Given the description of an element on the screen output the (x, y) to click on. 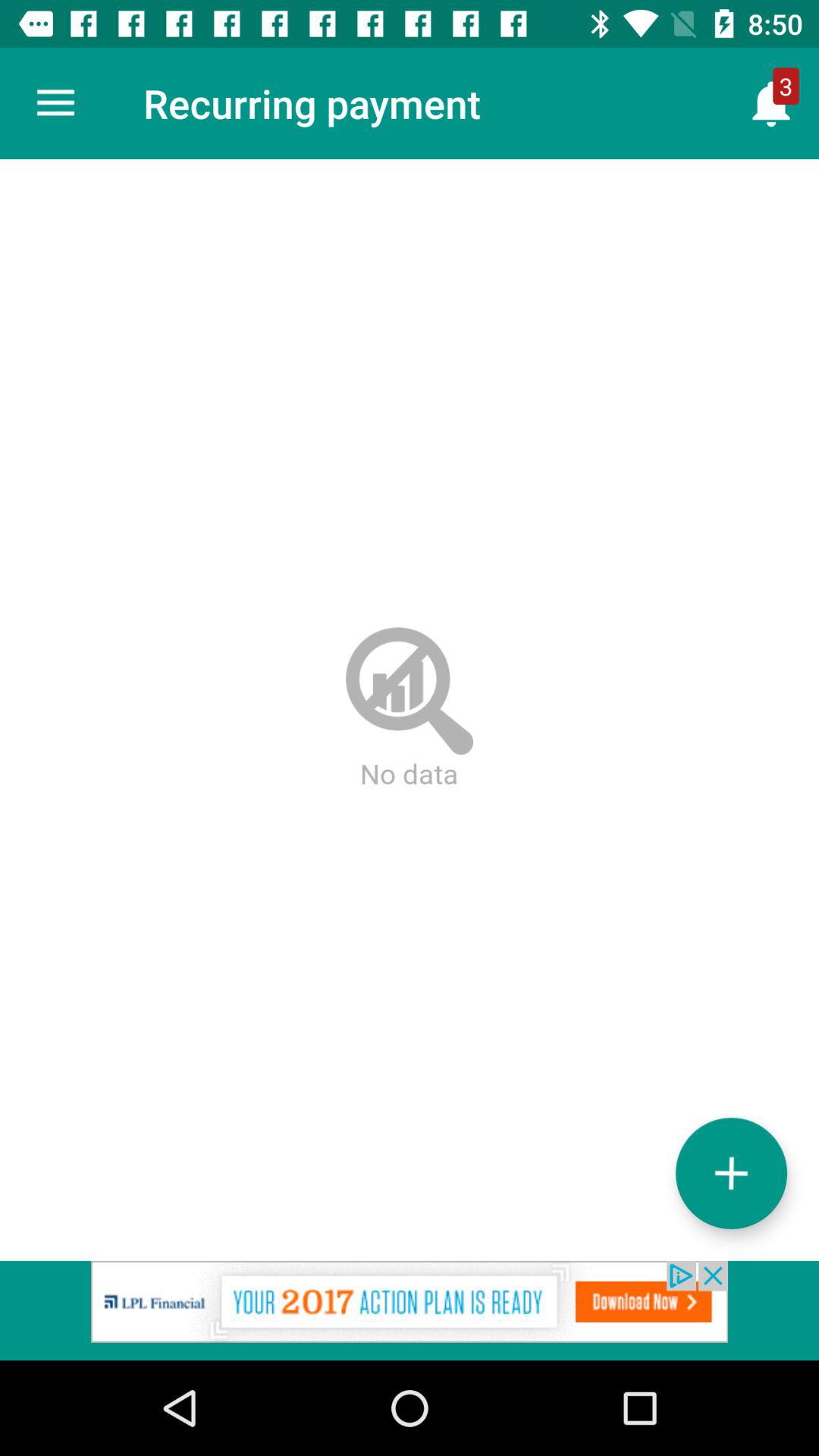
add new (731, 1173)
